Given the description of an element on the screen output the (x, y) to click on. 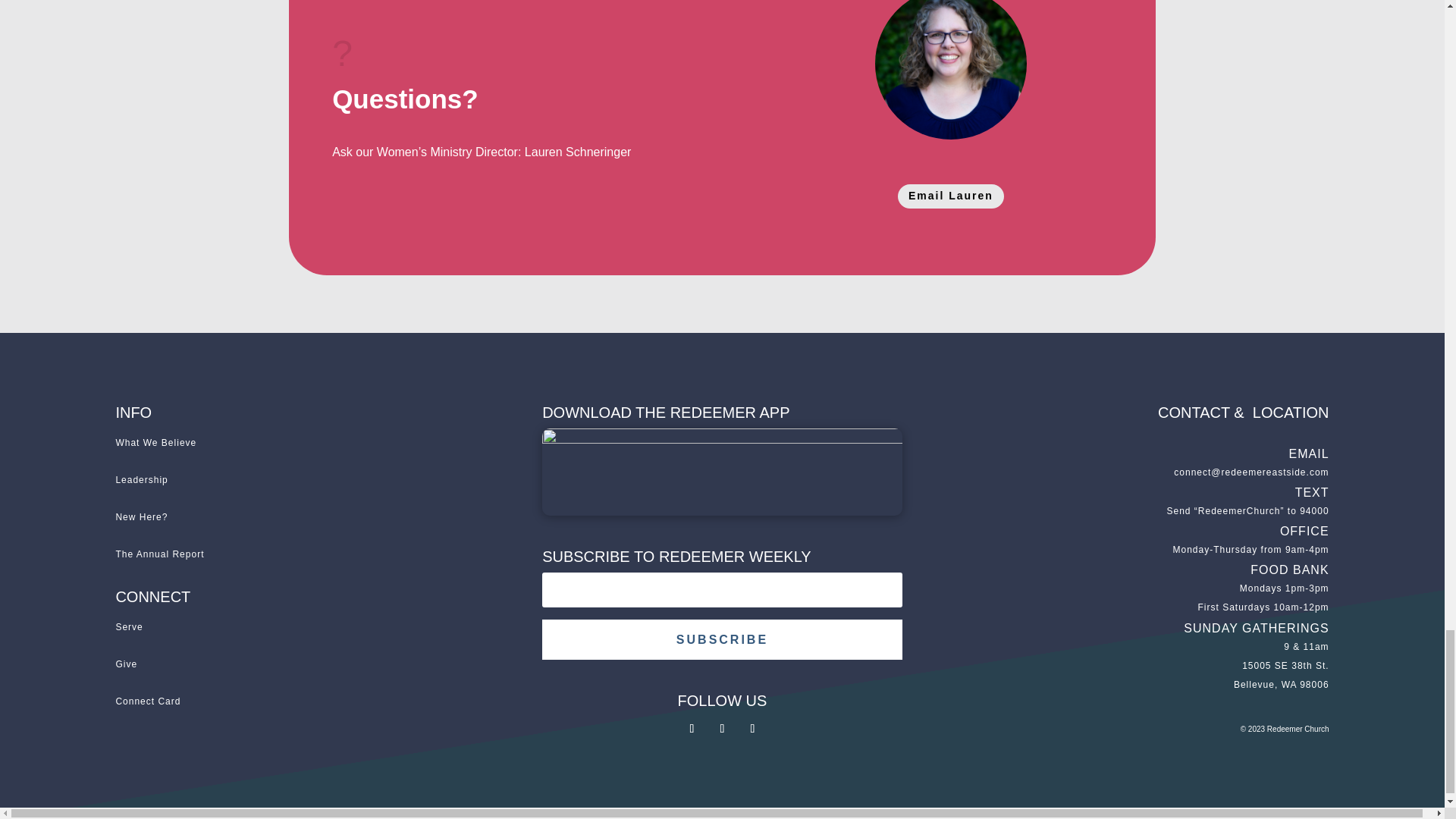
Staff Photos 2024-09 (950, 69)
Follow on Facebook (691, 728)
Follow on Instagram (721, 728)
App CTA for Web (721, 471)
Follow on Youtube (751, 728)
